Given the description of an element on the screen output the (x, y) to click on. 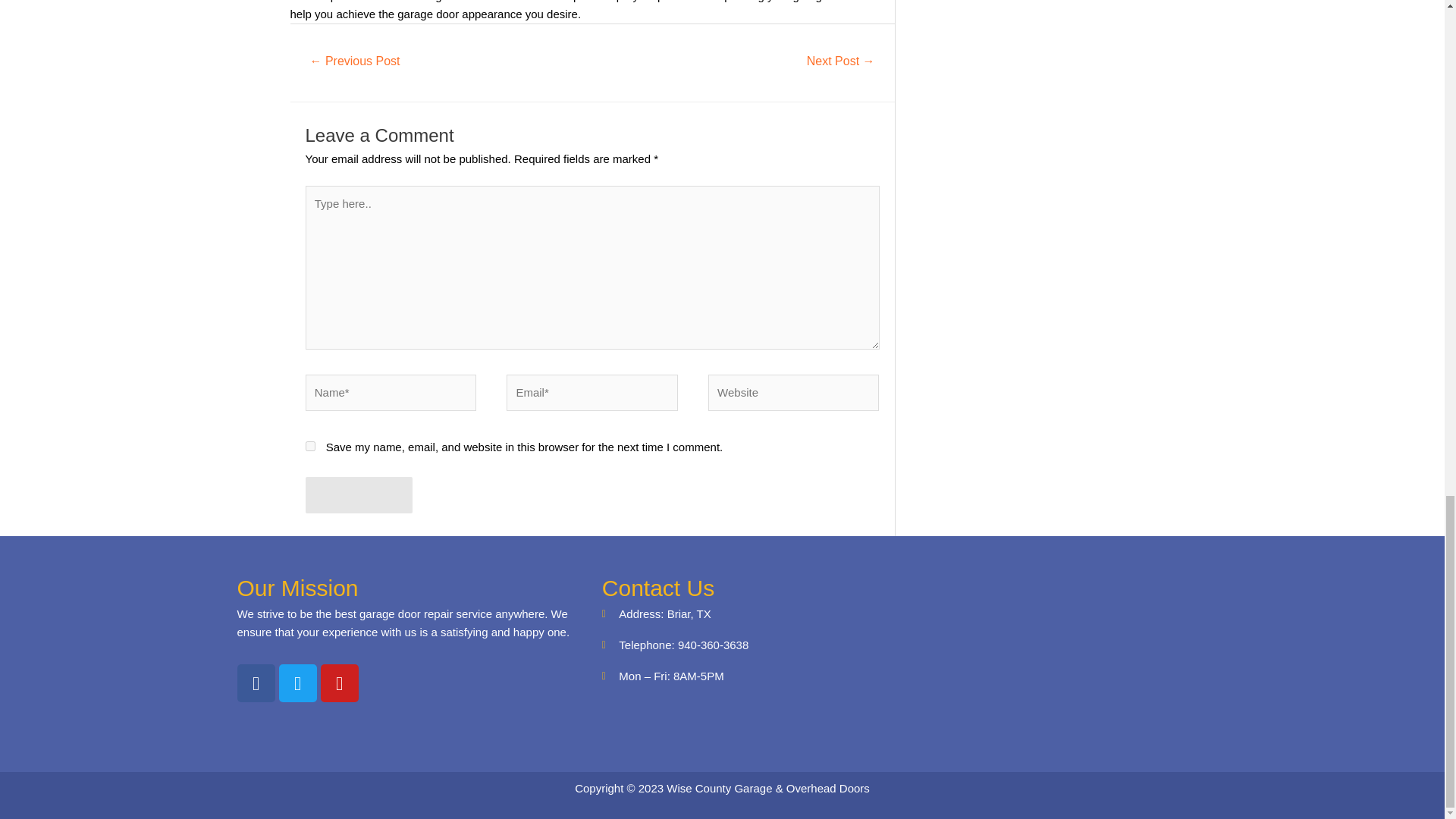
Find out the cost of garage doors (841, 62)
yes (309, 446)
The Guide to a Clean Garage (354, 62)
Google Maps Briar (1046, 649)
